Given the description of an element on the screen output the (x, y) to click on. 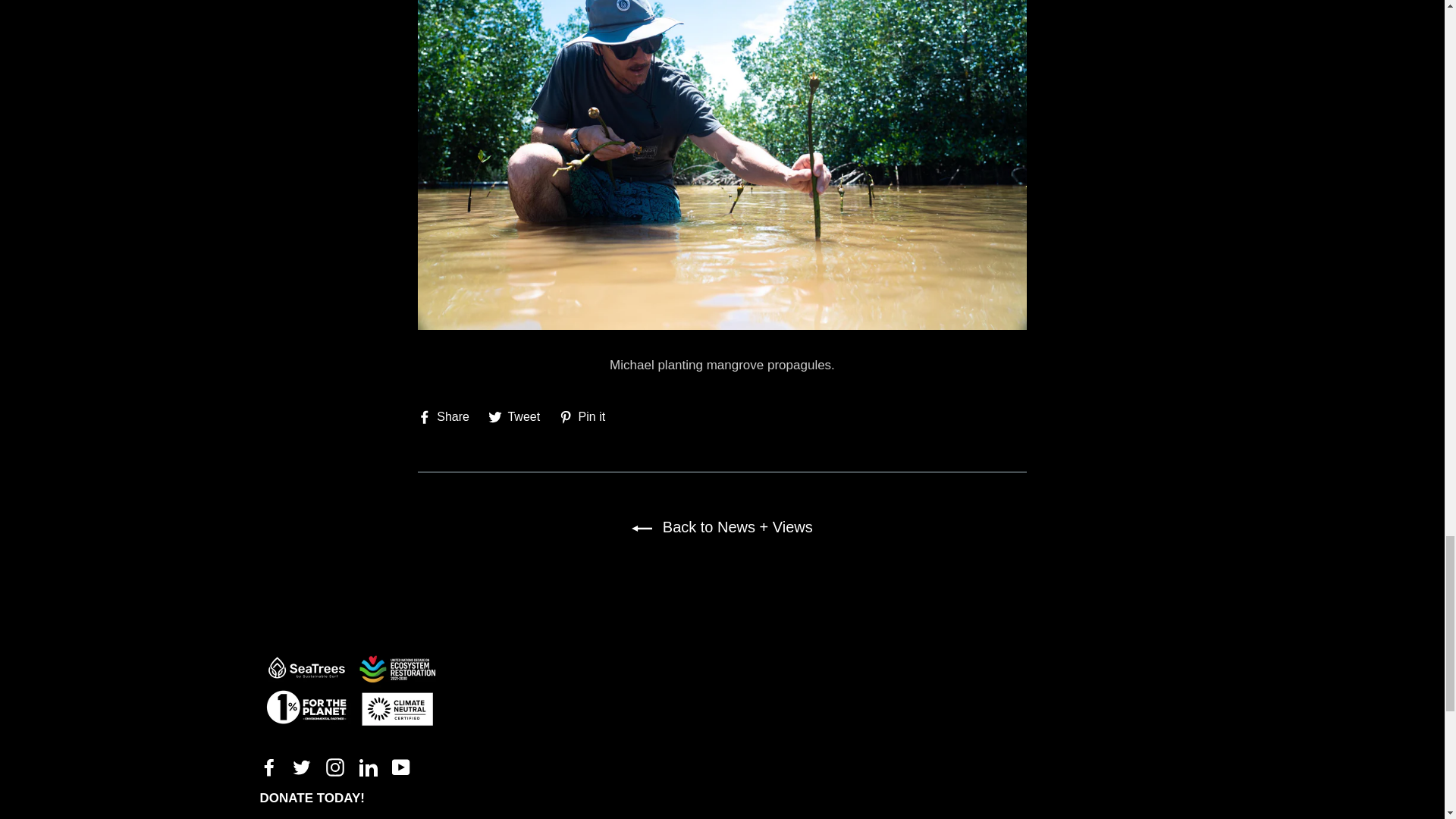
SeaTrees on Instagram (334, 765)
SeaTrees on YouTube (400, 765)
Share on Facebook (448, 416)
SeaTrees on LinkedIn (368, 765)
Tweet on Twitter (519, 416)
Pin on Pinterest (587, 416)
SeaTrees on Twitter (301, 765)
